Given the description of an element on the screen output the (x, y) to click on. 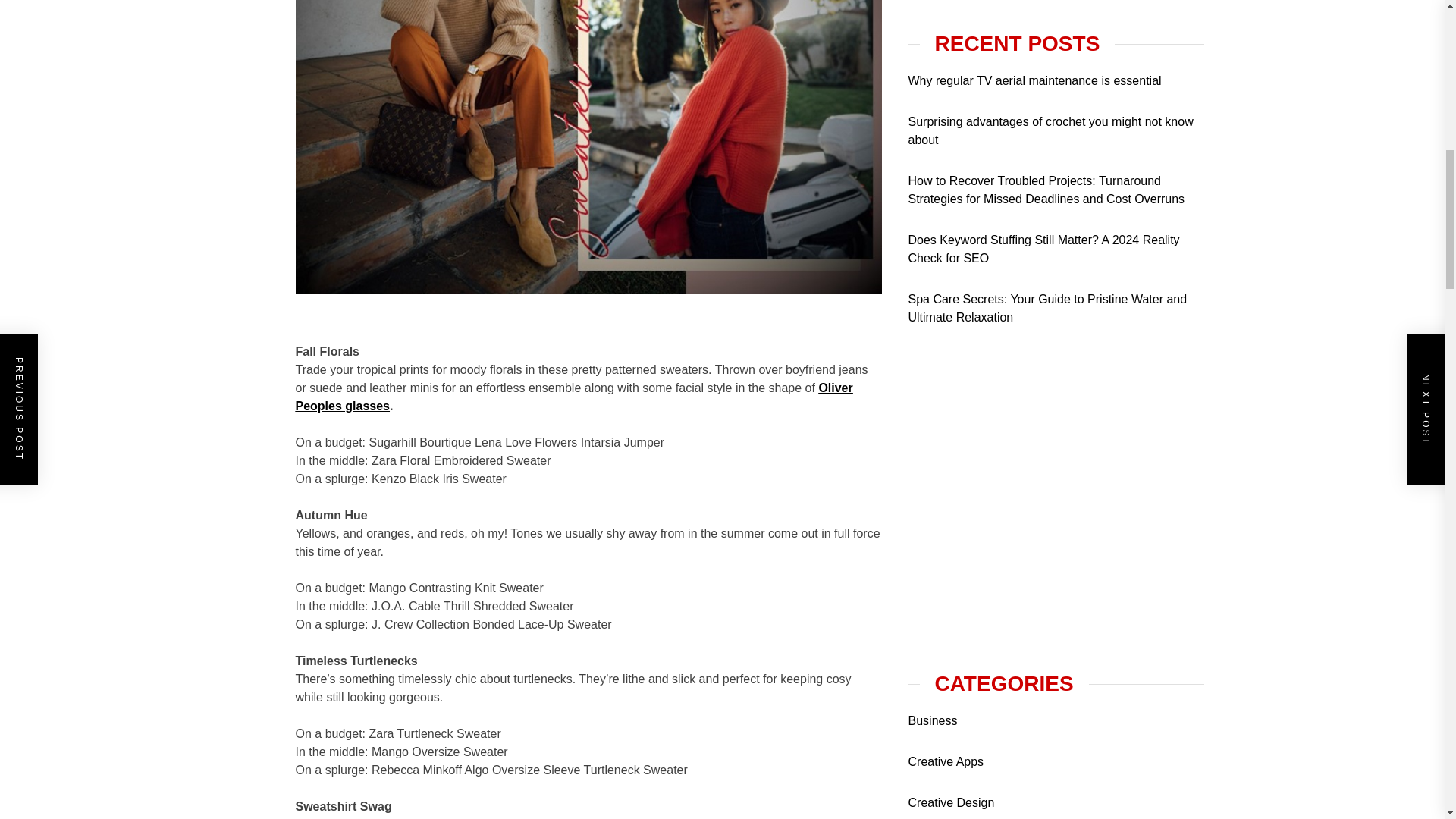
Click Here (1021, 408)
